Given the description of an element on the screen output the (x, y) to click on. 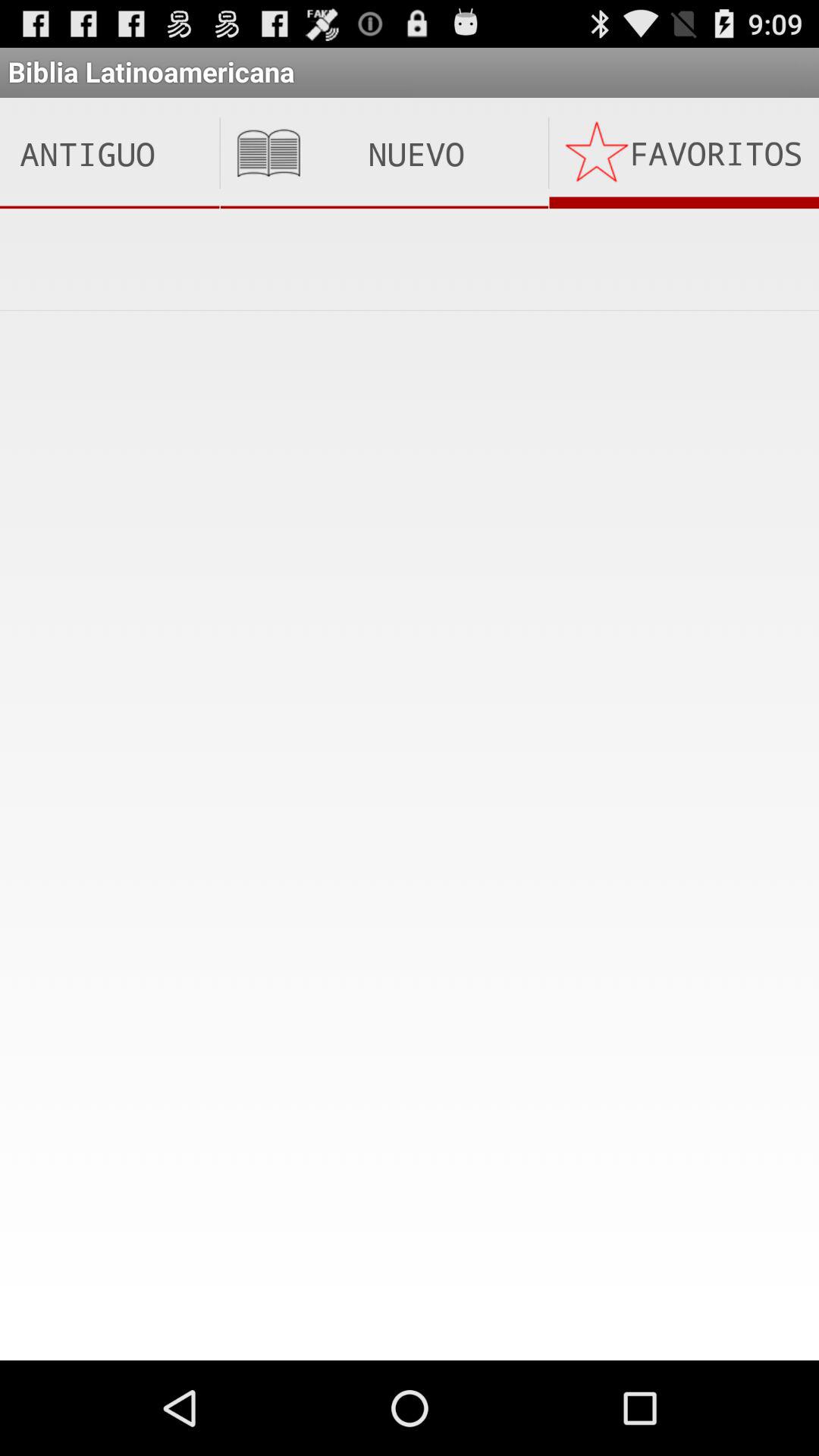
open icon to the left of nuevo testamento icon (109, 152)
